Given the description of an element on the screen output the (x, y) to click on. 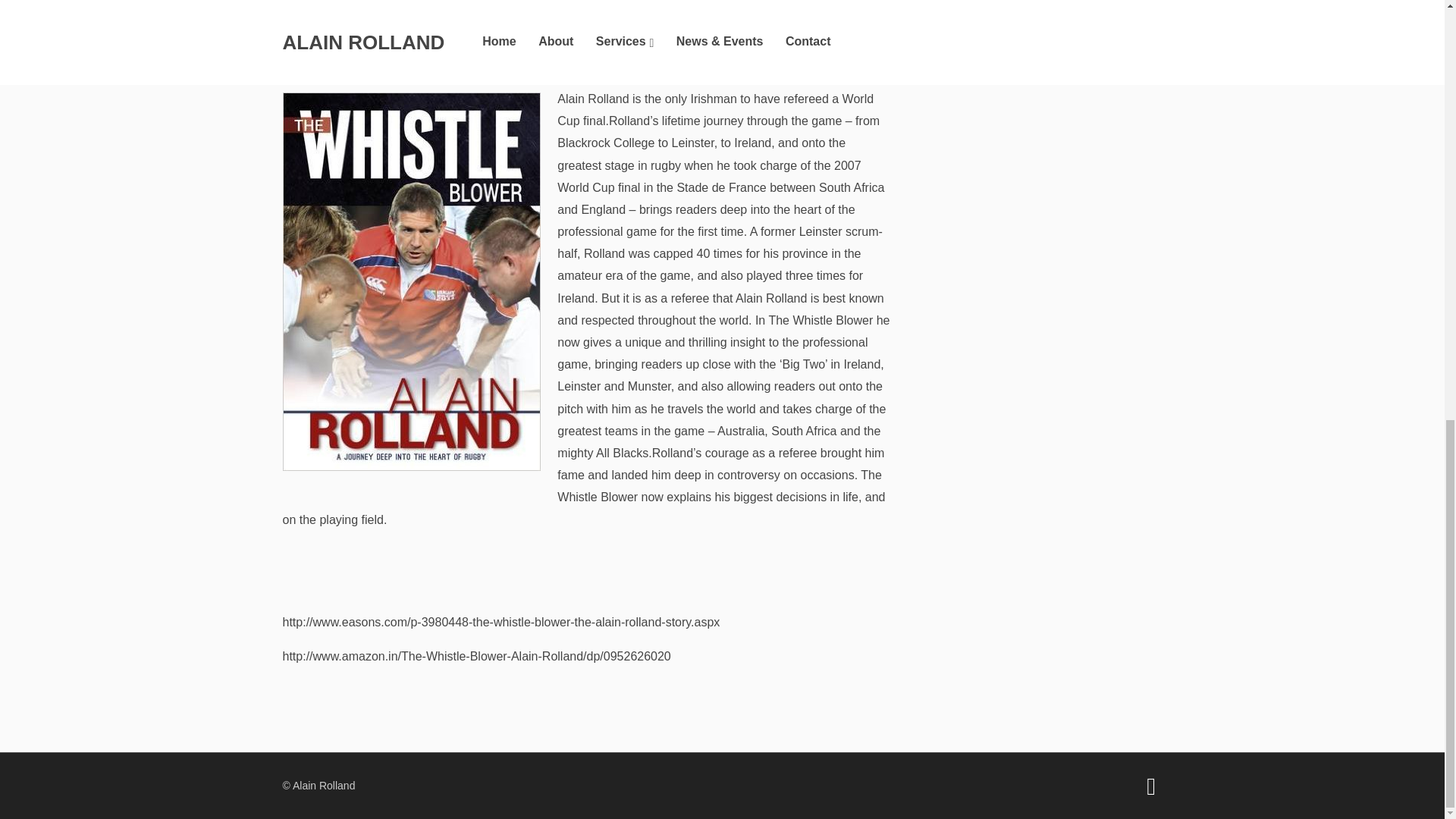
The Whistle Blower: The Alain Rolland Story (585, 27)
News (351, 65)
Comment (541, 65)
